Given the description of an element on the screen output the (x, y) to click on. 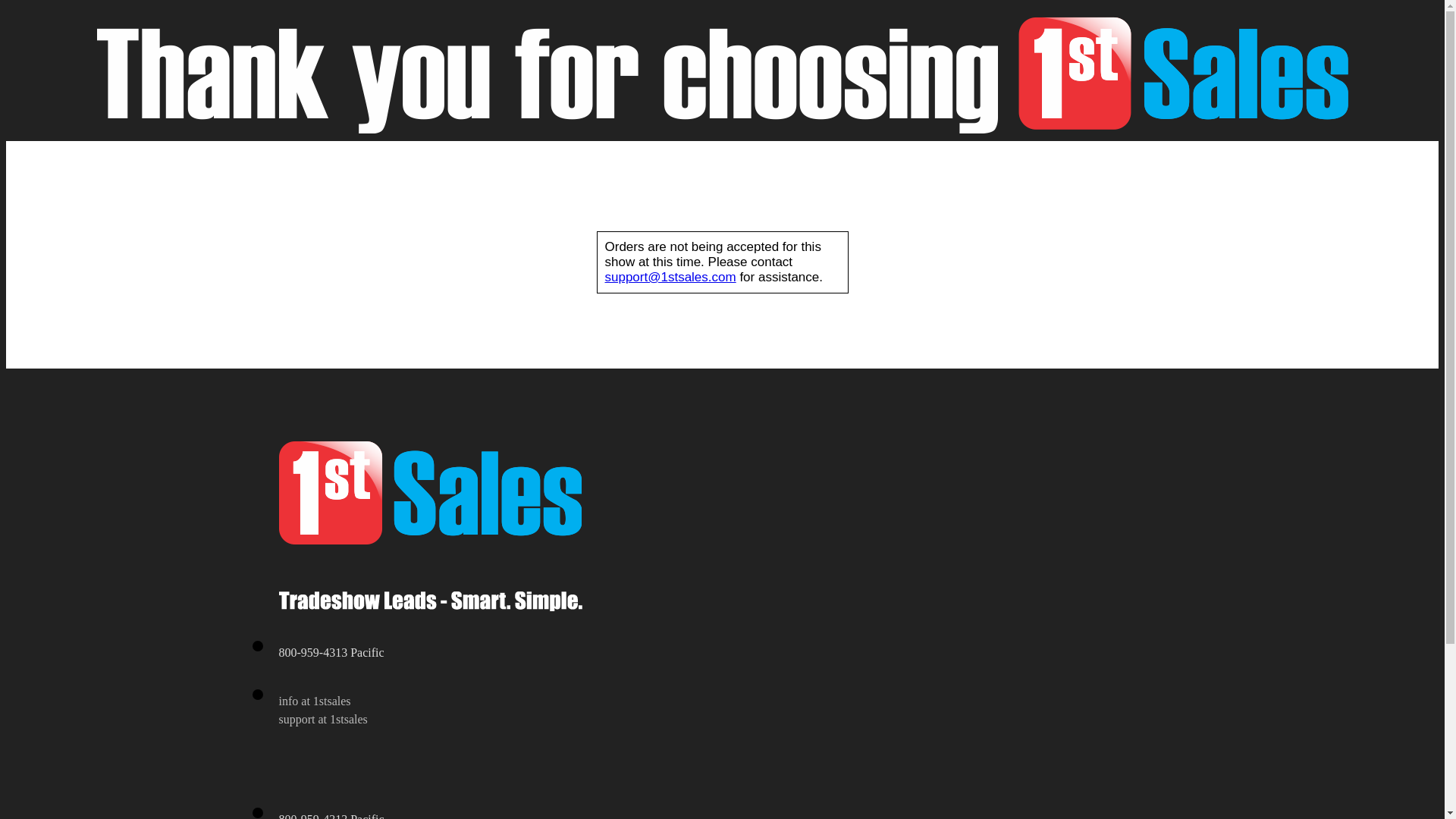
Tagline_footer_web Element type: hover (430, 601)
support@1stsales.com Element type: text (670, 276)
Original logo footer Element type: hover (430, 492)
